Given the description of an element on the screen output the (x, y) to click on. 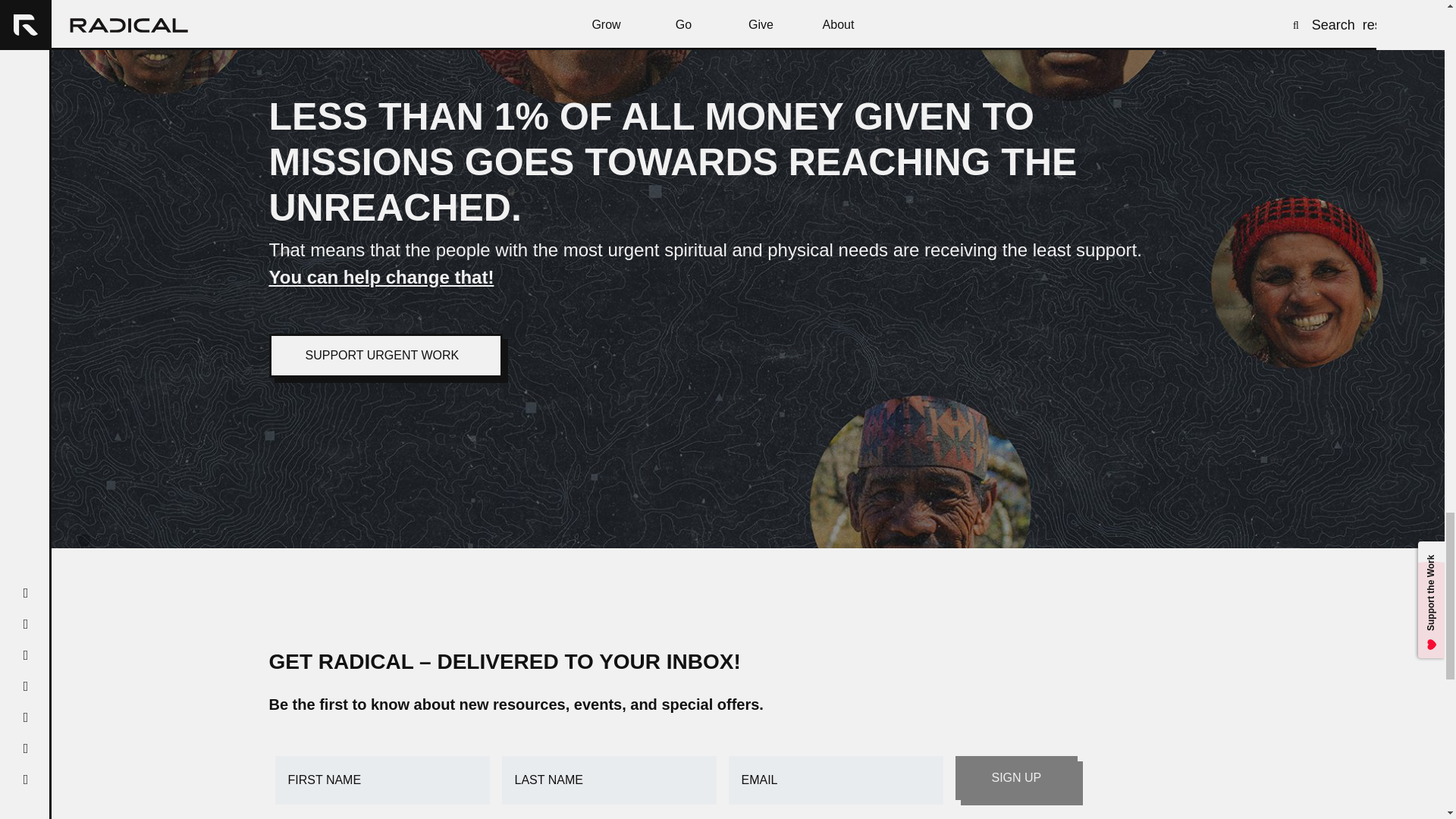
Sign Up (1016, 777)
